Given the description of an element on the screen output the (x, y) to click on. 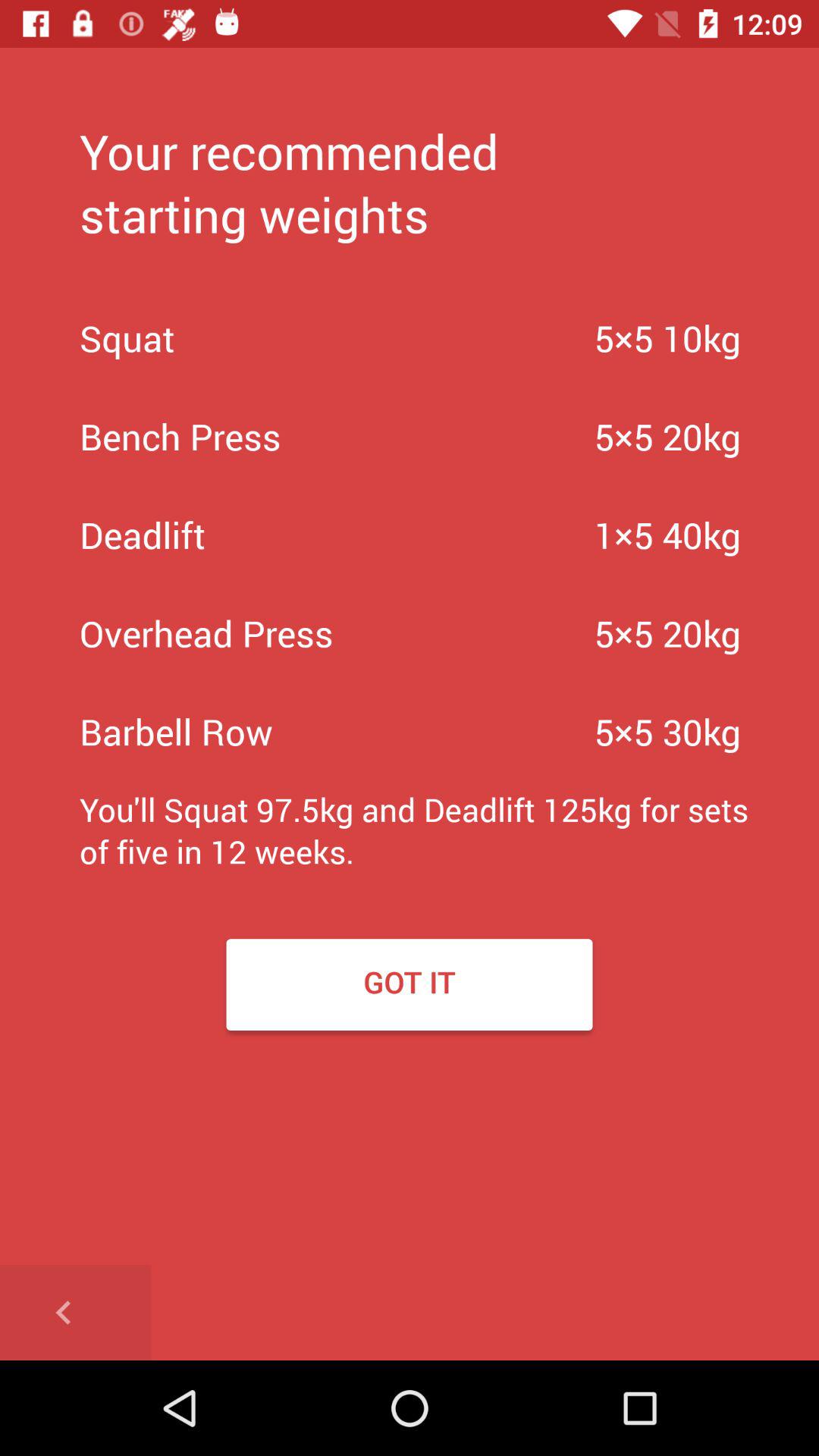
choose got it icon (409, 984)
